Given the description of an element on the screen output the (x, y) to click on. 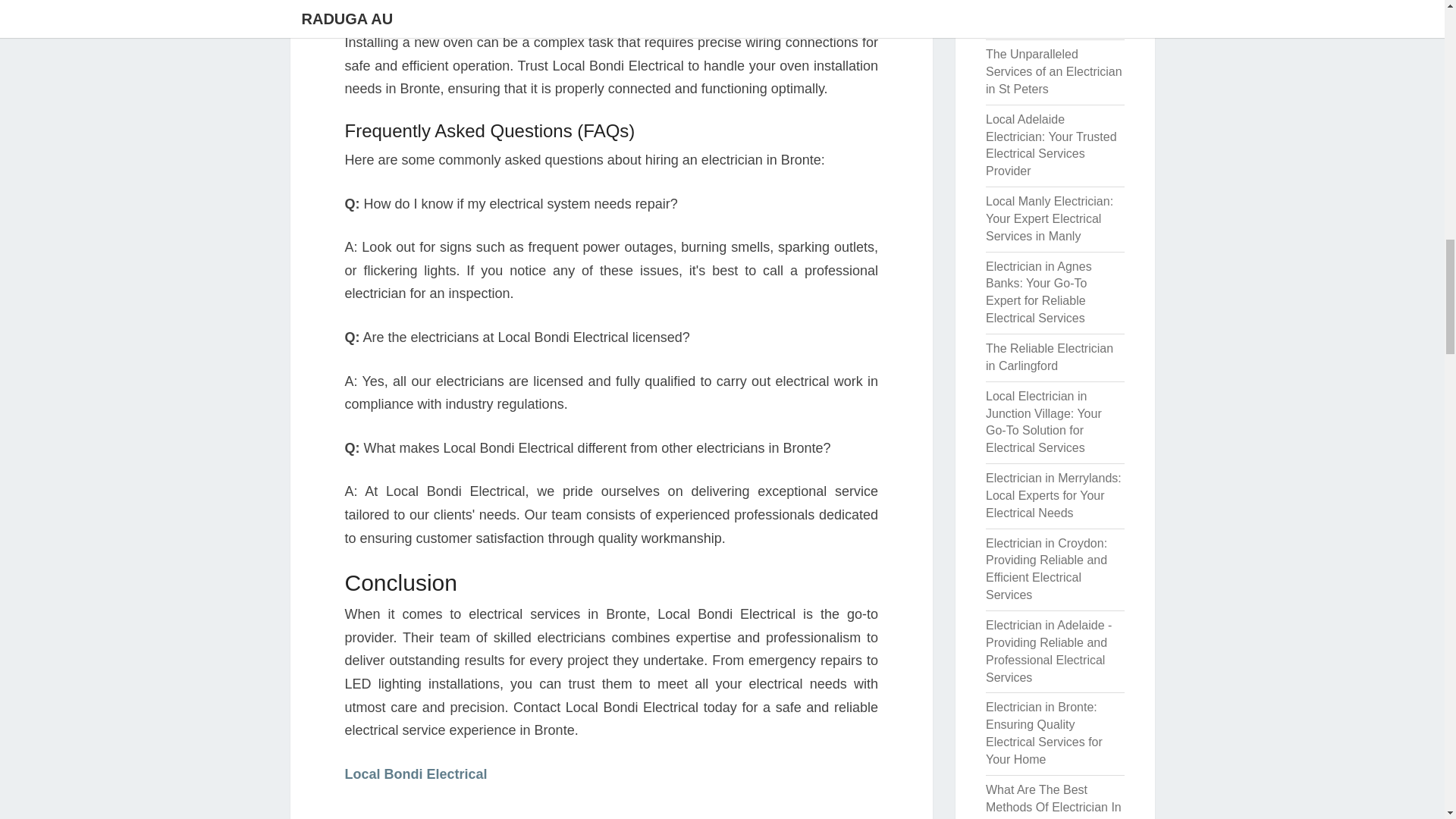
The Reliable Electrician in Carlingford (1049, 357)
Local Bondi Electrical: Your Reliable Electrician in Bronte (1050, 15)
The Unparalleled Services of an Electrician in St Peters (1053, 71)
Local Bondi Electrical (414, 774)
